Given the description of an element on the screen output the (x, y) to click on. 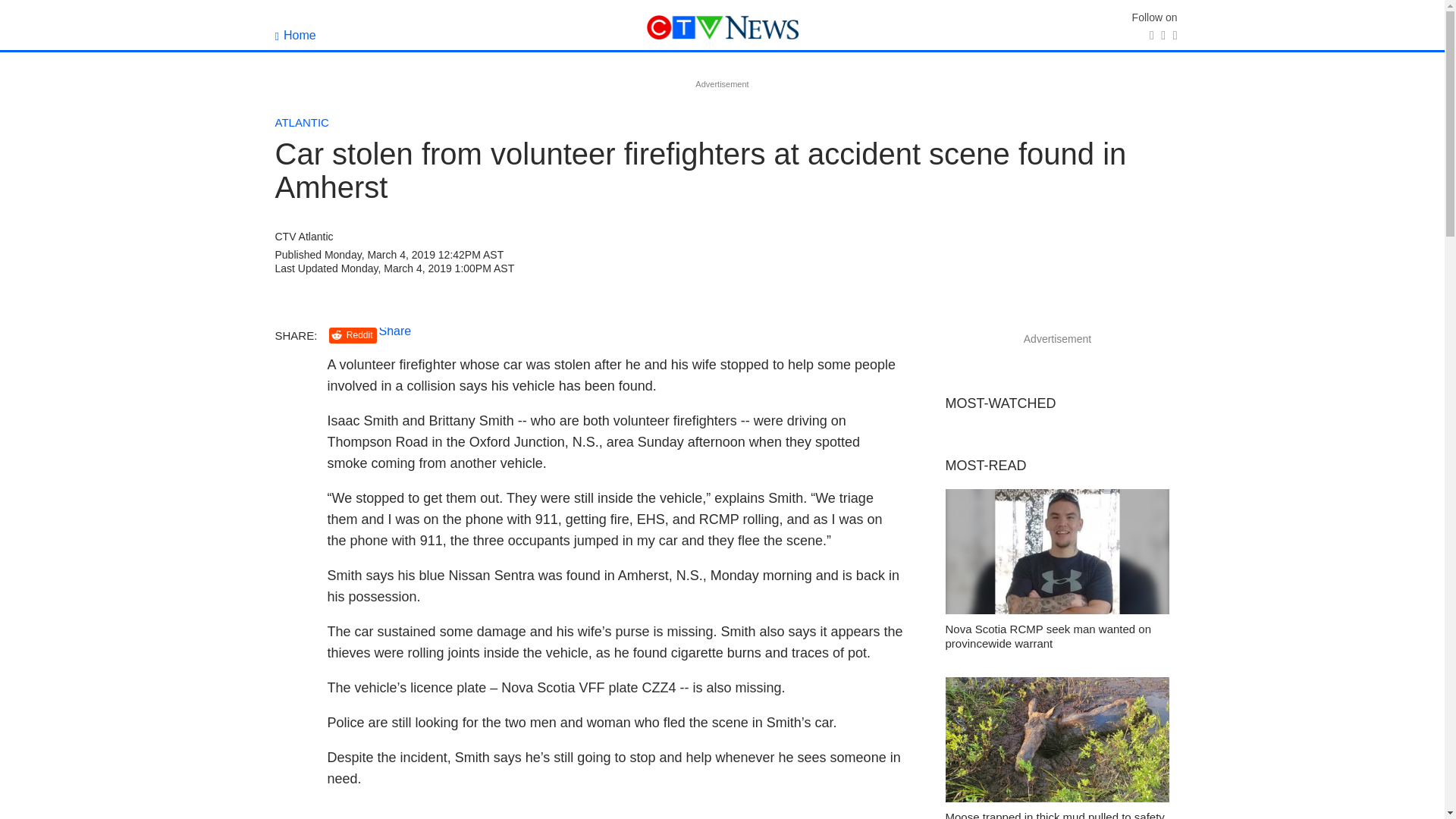
Home (295, 34)
ATLANTIC (302, 122)
Reddit (353, 335)
Share (395, 330)
